Given the description of an element on the screen output the (x, y) to click on. 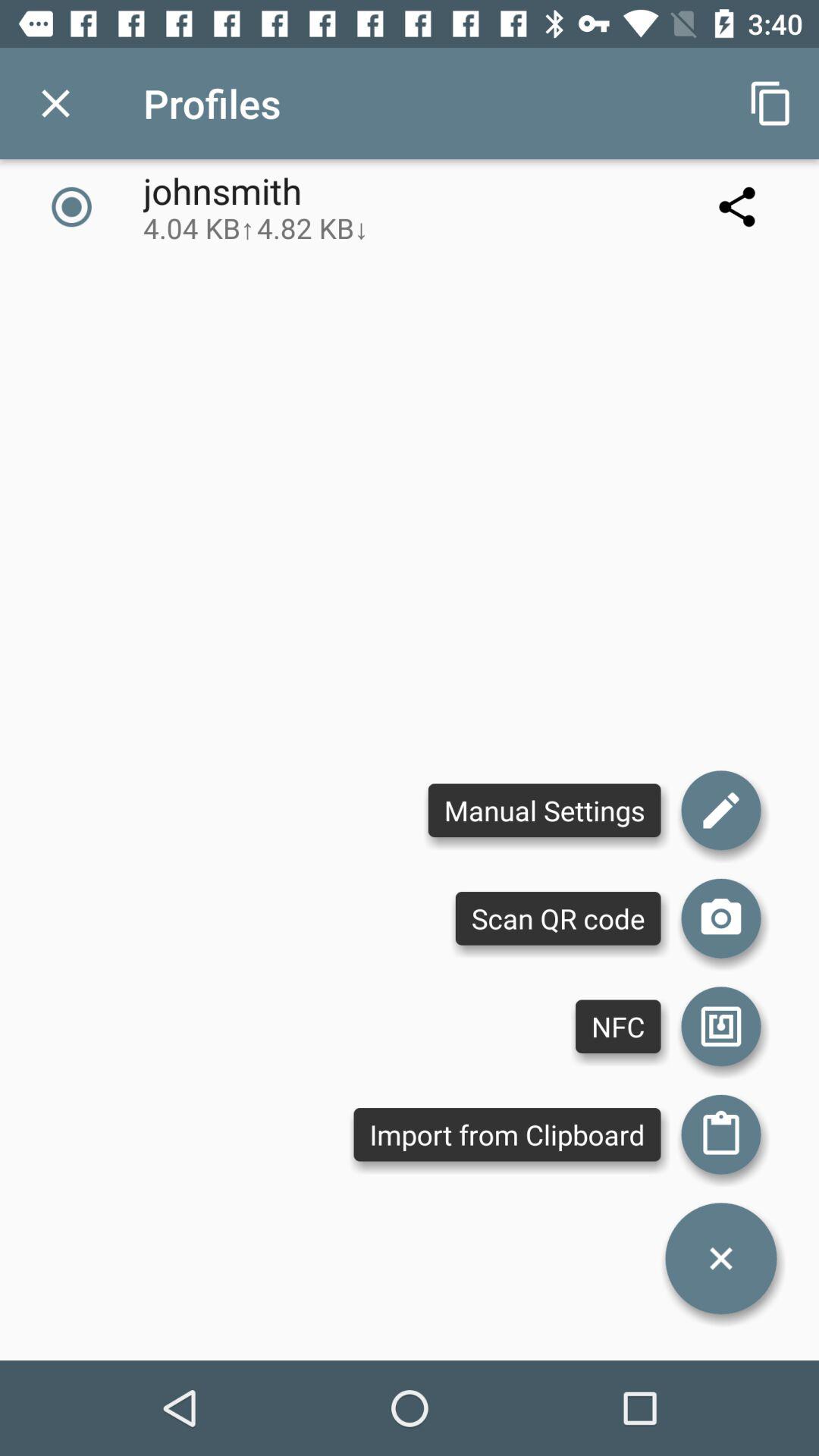
close app (55, 103)
